Given the description of an element on the screen output the (x, y) to click on. 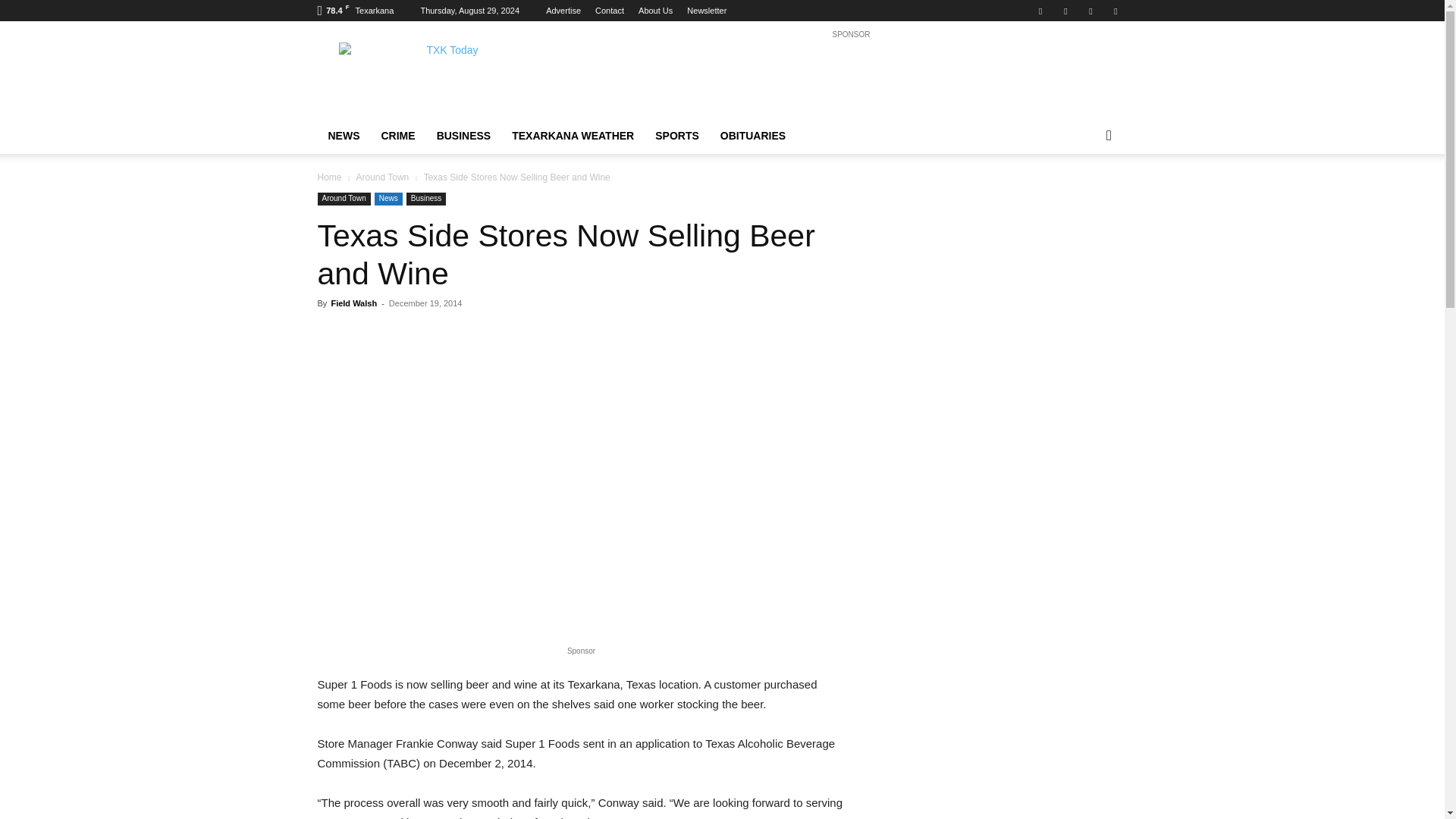
View all posts in Around Town (382, 176)
CRIME (397, 135)
Texarkana News (445, 76)
Contact (609, 10)
Field Walsh (353, 302)
Advertise (563, 10)
Search (1085, 196)
TEXARKANA WEATHER (572, 135)
Newsletter (706, 10)
BUSINESS (464, 135)
